Given the description of an element on the screen output the (x, y) to click on. 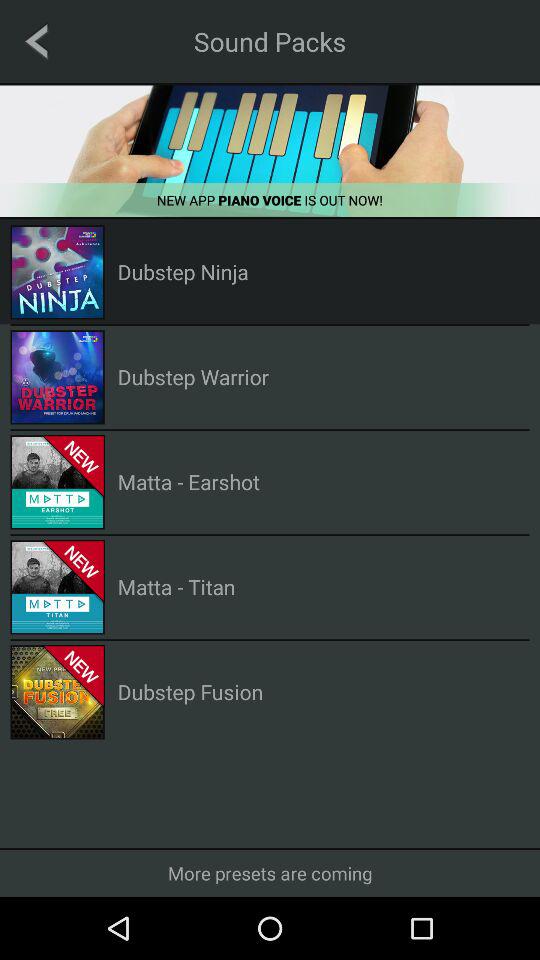
flip until dubstep warrior app (192, 376)
